Given the description of an element on the screen output the (x, y) to click on. 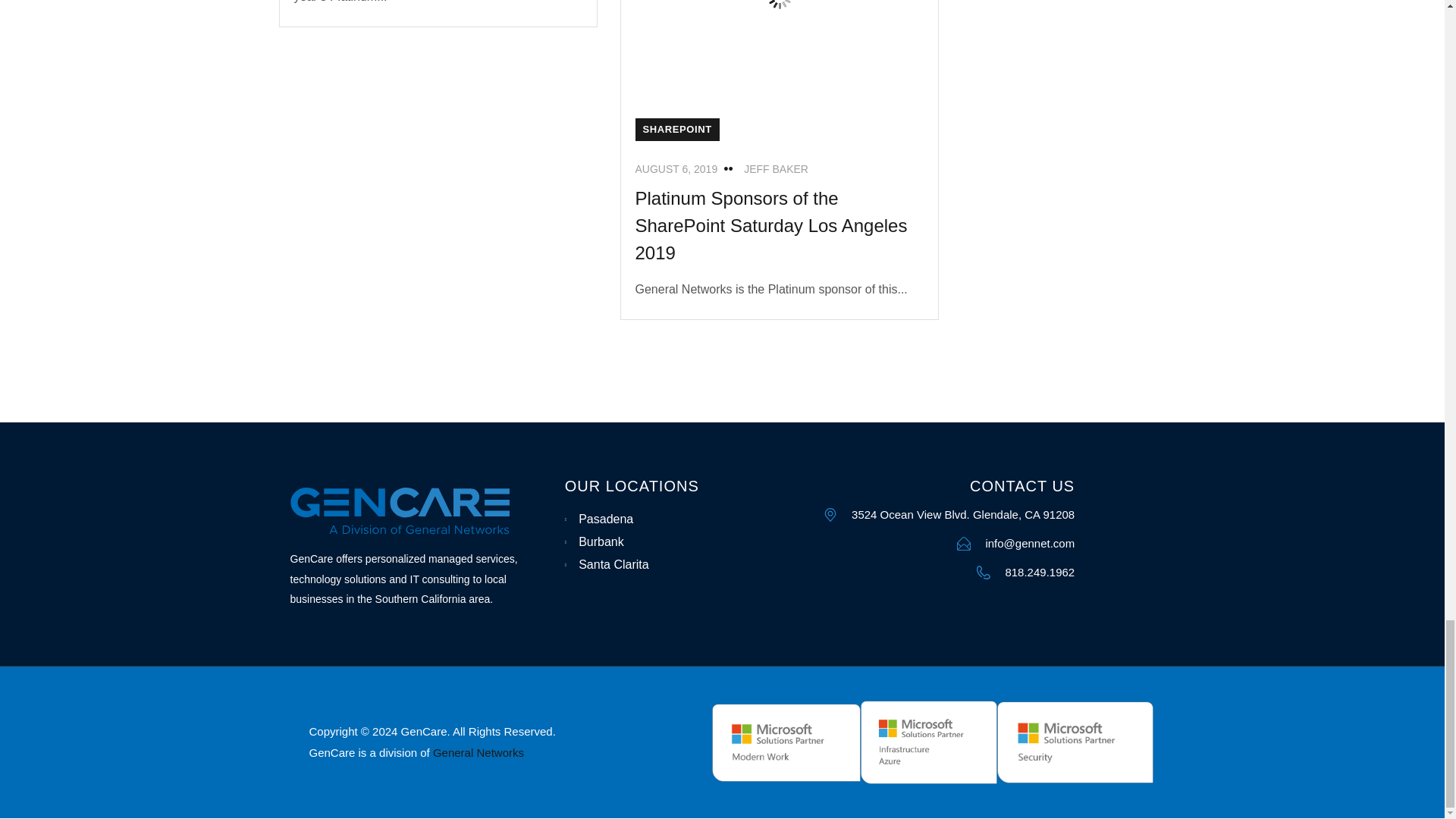
AUGUST 6, 2019 (675, 168)
JEFF BAKER (776, 168)
SHAREPOINT (676, 128)
